Given the description of an element on the screen output the (x, y) to click on. 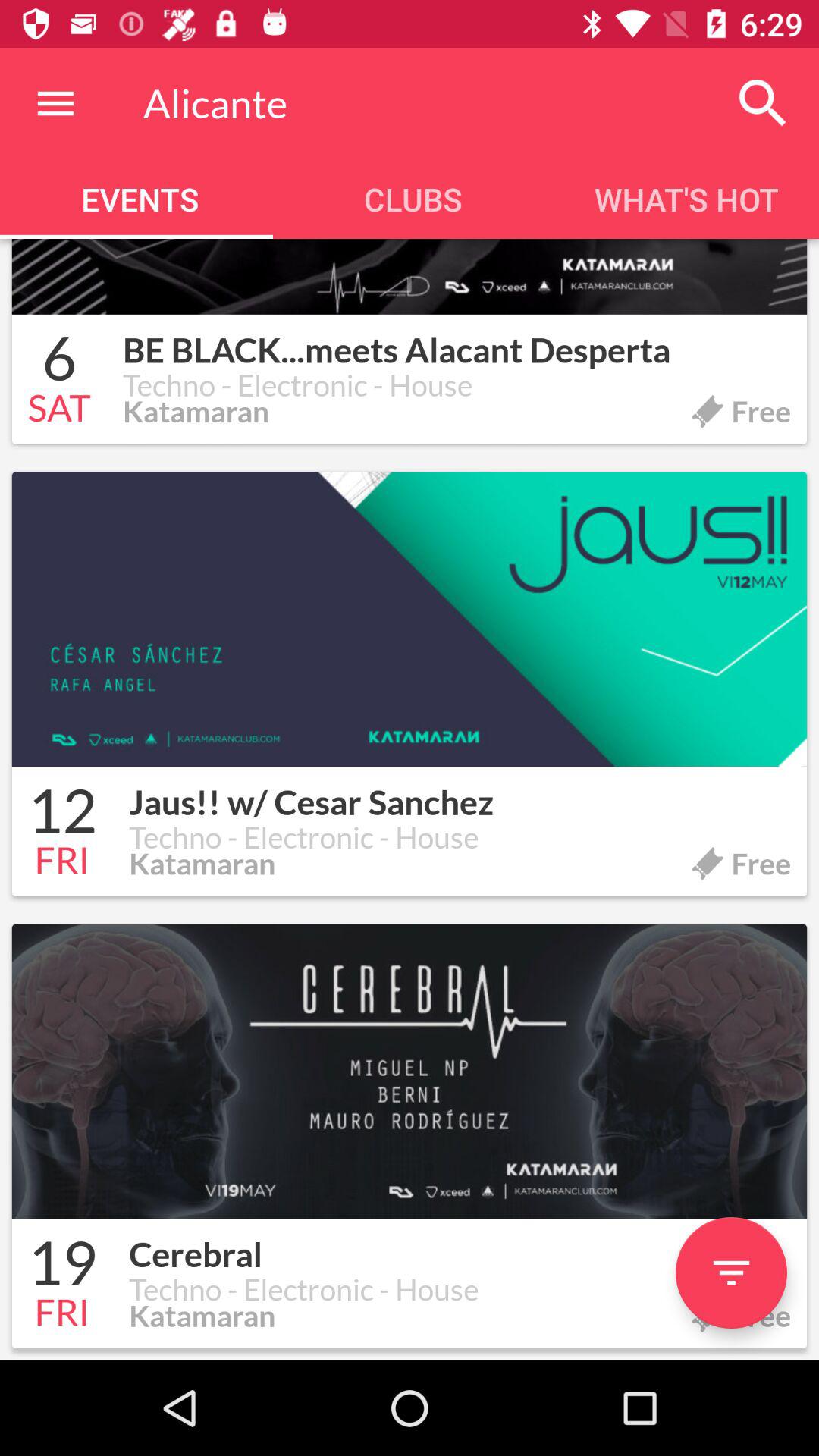
flip until the cerebral (460, 1245)
